Given the description of an element on the screen output the (x, y) to click on. 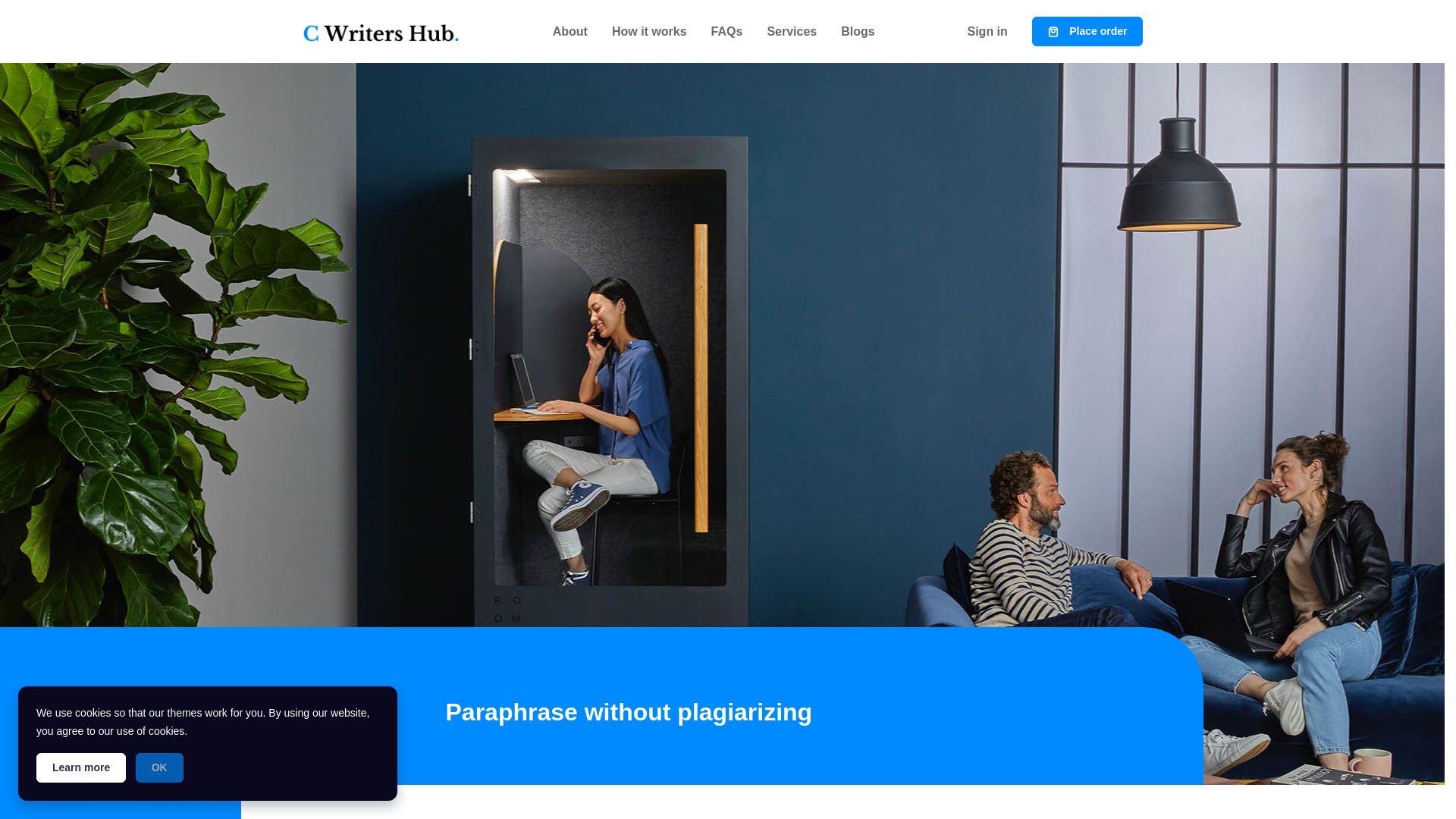
About (569, 31)
Learn more (80, 767)
How it works (648, 31)
OK (159, 767)
FAQs (726, 31)
Place order (1087, 30)
Sign in (987, 31)
Services (791, 31)
Blogs (857, 31)
